Given the description of an element on the screen output the (x, y) to click on. 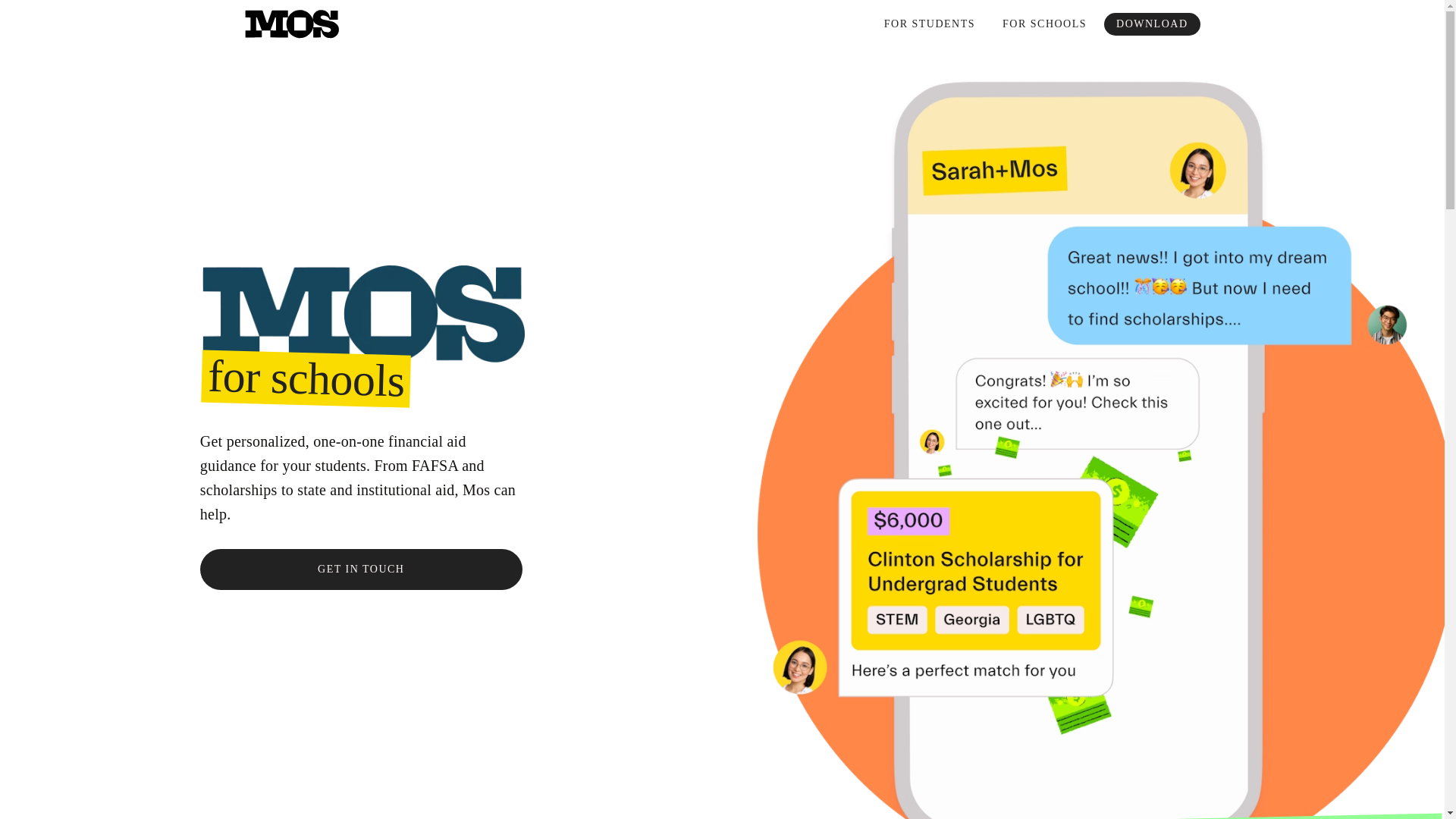
DOWNLOAD (1151, 24)
FOR STUDENTS (929, 24)
FOR SCHOOLS (1044, 24)
GET IN TOUCH (361, 568)
